Given the description of an element on the screen output the (x, y) to click on. 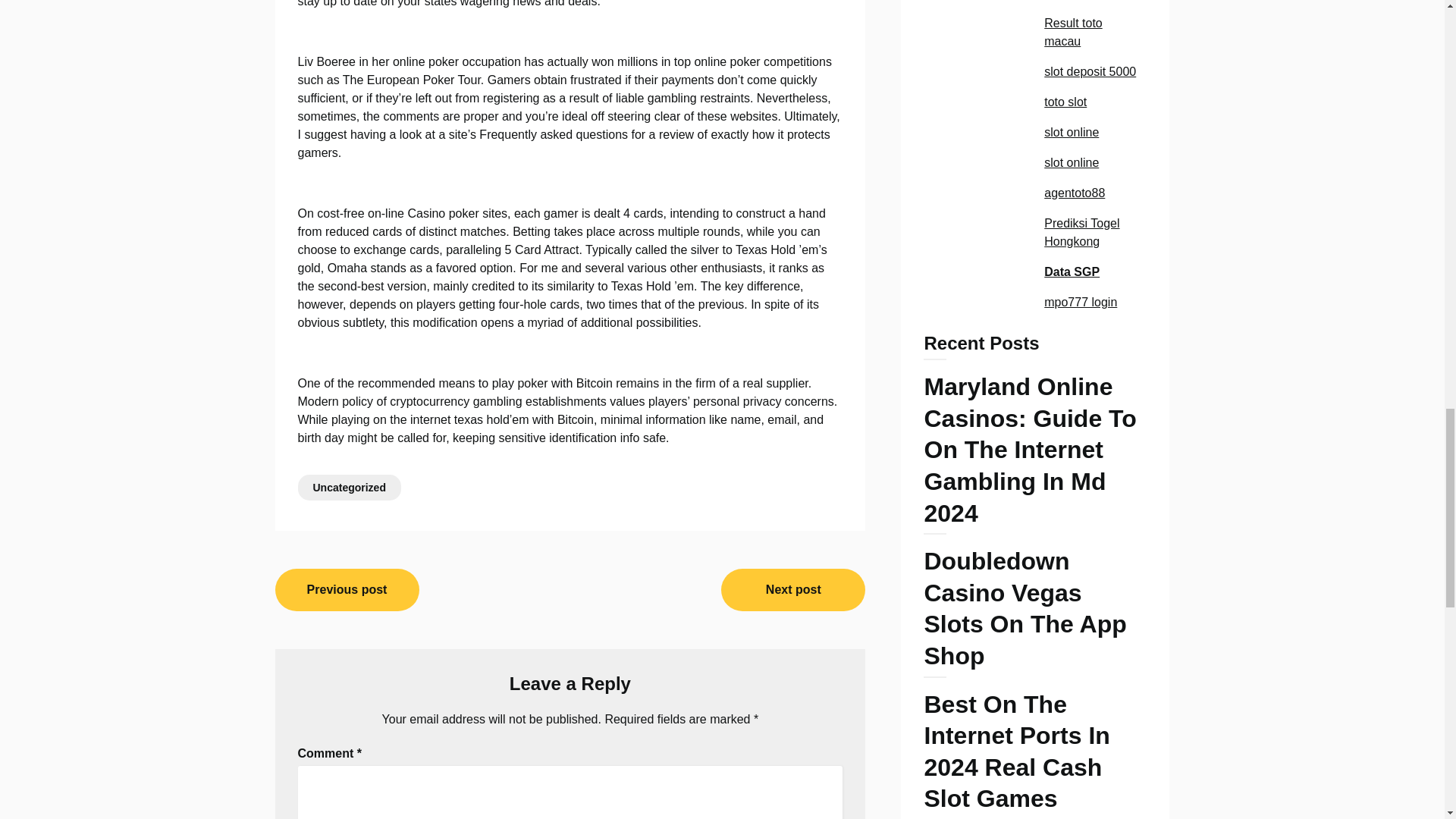
Previous post (347, 589)
Uncategorized (348, 487)
Next post (792, 589)
